Given the description of an element on the screen output the (x, y) to click on. 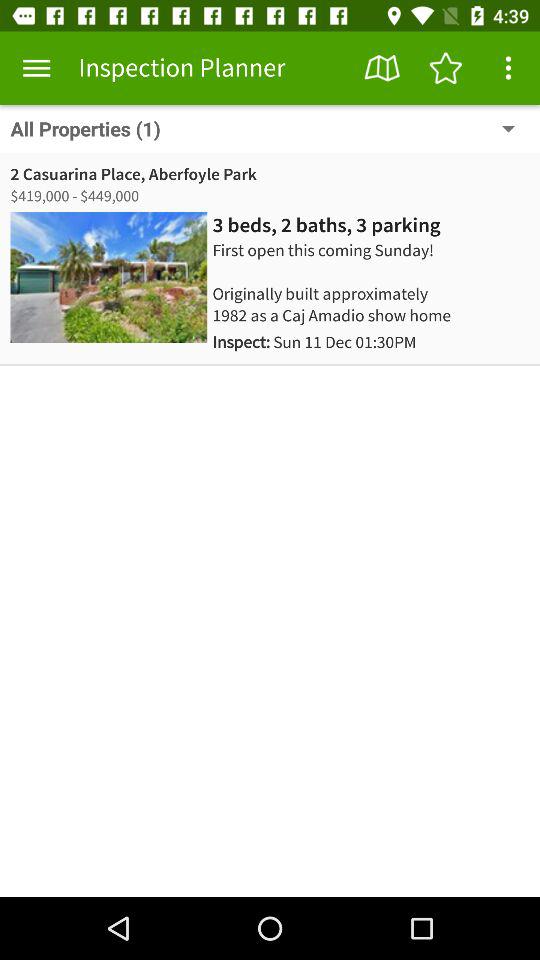
jump to the 3 beds 2 icon (326, 225)
